Given the description of an element on the screen output the (x, y) to click on. 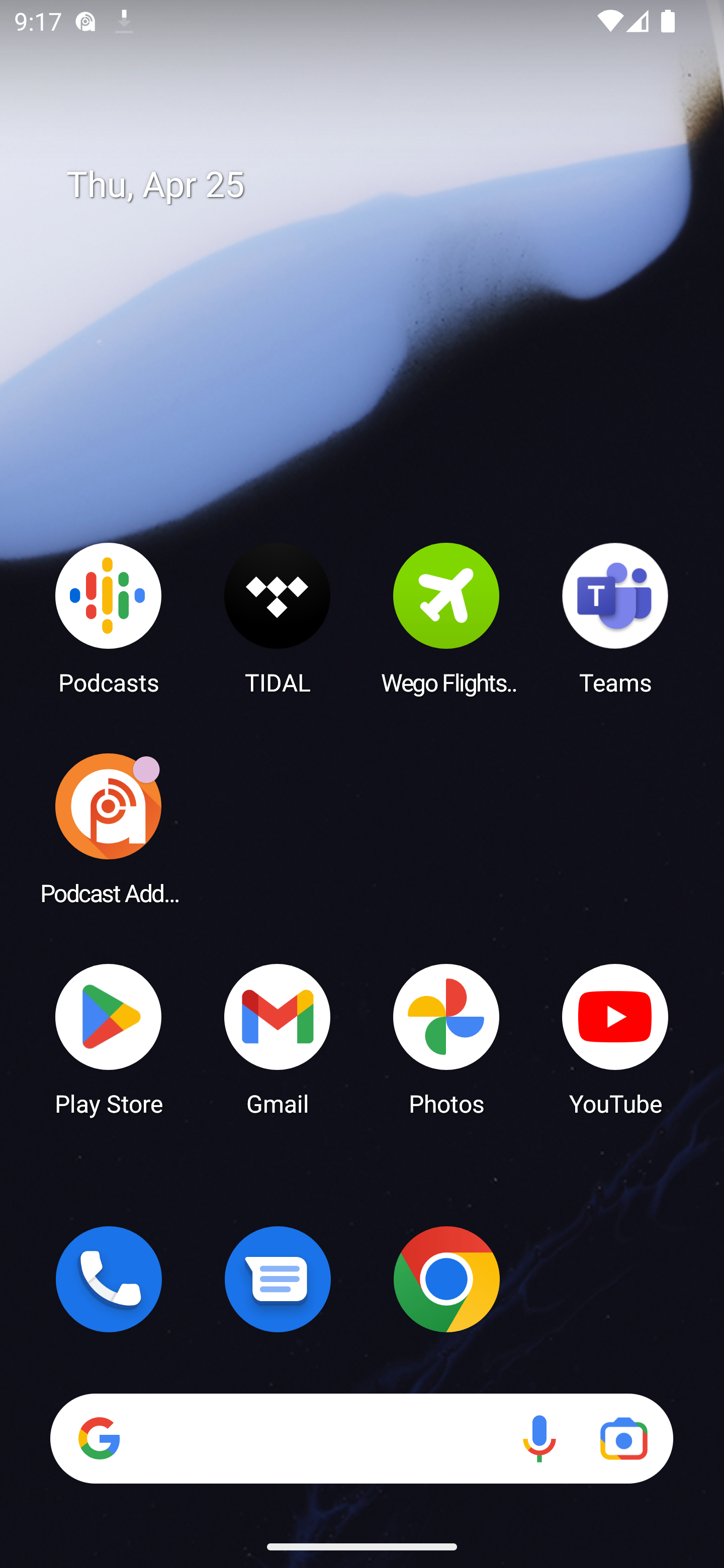
Thu, Apr 25 (375, 184)
Podcasts (108, 617)
TIDAL (277, 617)
Wego Flights & Hotels (445, 617)
Teams (615, 617)
Play Store (108, 1038)
Gmail (277, 1038)
Photos (445, 1038)
YouTube (615, 1038)
Phone (108, 1279)
Messages (277, 1279)
Chrome (446, 1279)
Search Voice search Google Lens (361, 1438)
Voice search (539, 1438)
Google Lens (623, 1438)
